Given the description of an element on the screen output the (x, y) to click on. 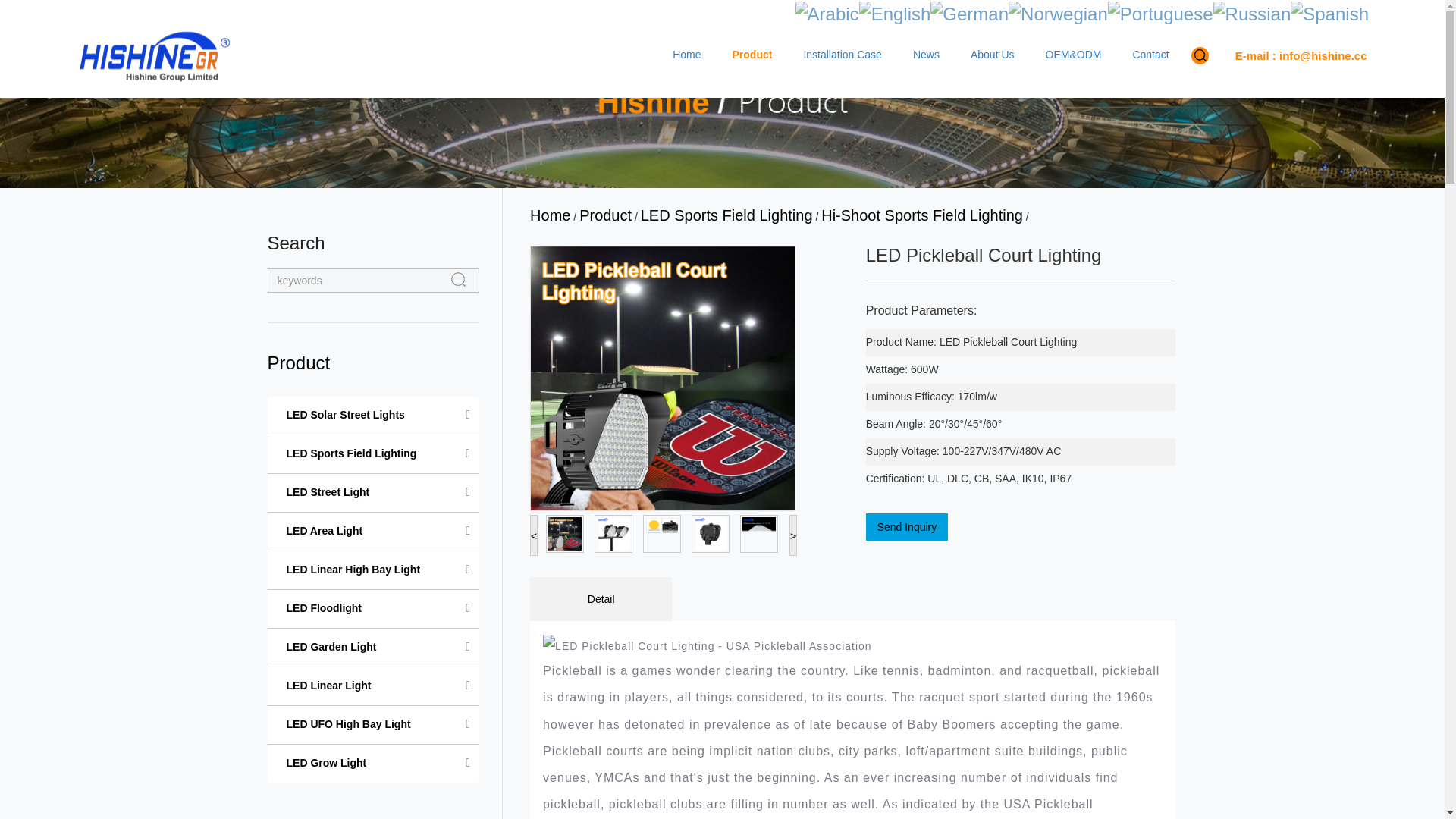
keywords (372, 280)
Product (298, 362)
Installation Case (842, 52)
Installation Case (842, 52)
logo (153, 56)
LED Solar Street Lights (345, 414)
